Given the description of an element on the screen output the (x, y) to click on. 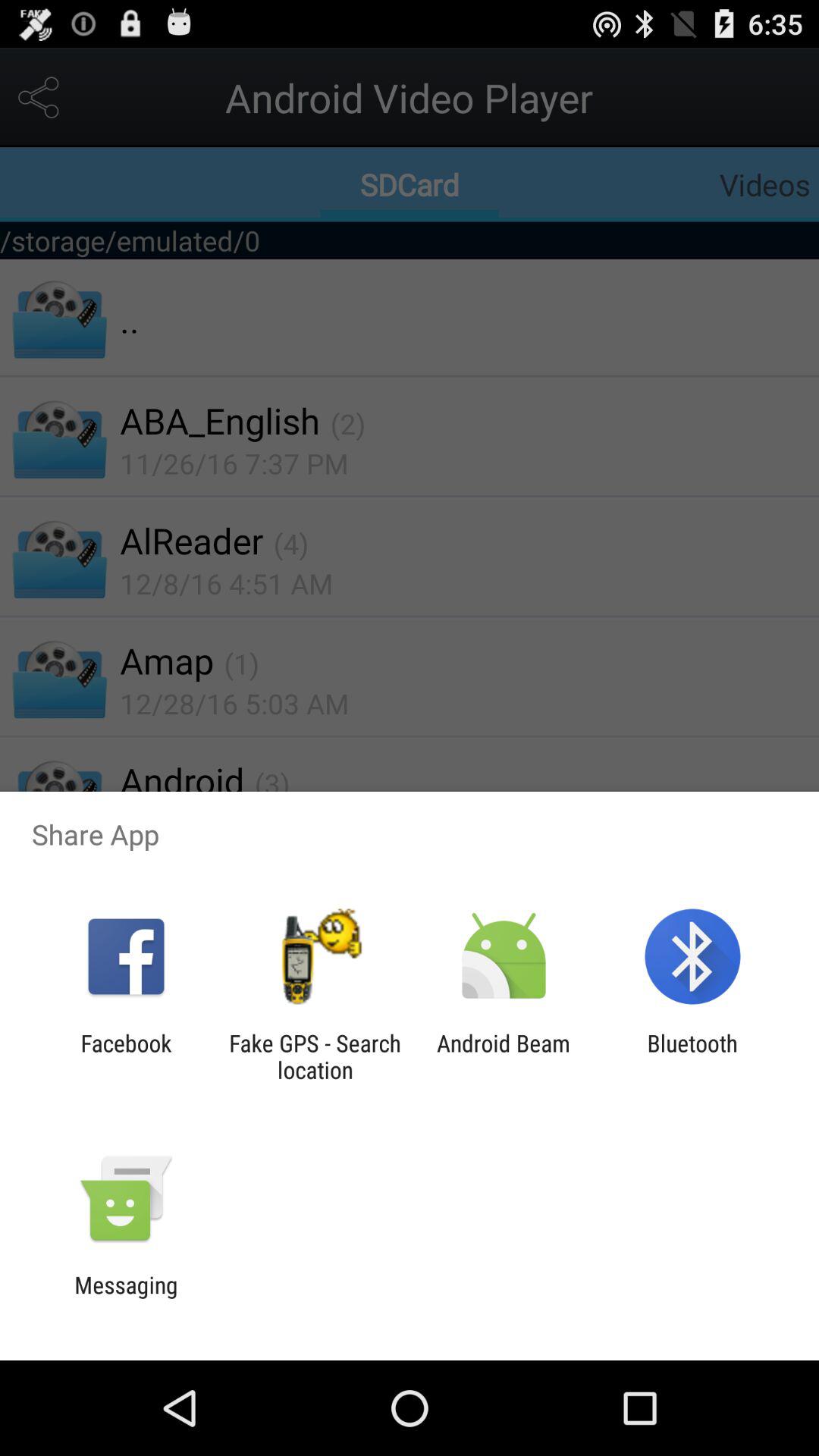
tap the facebook (125, 1056)
